Given the description of an element on the screen output the (x, y) to click on. 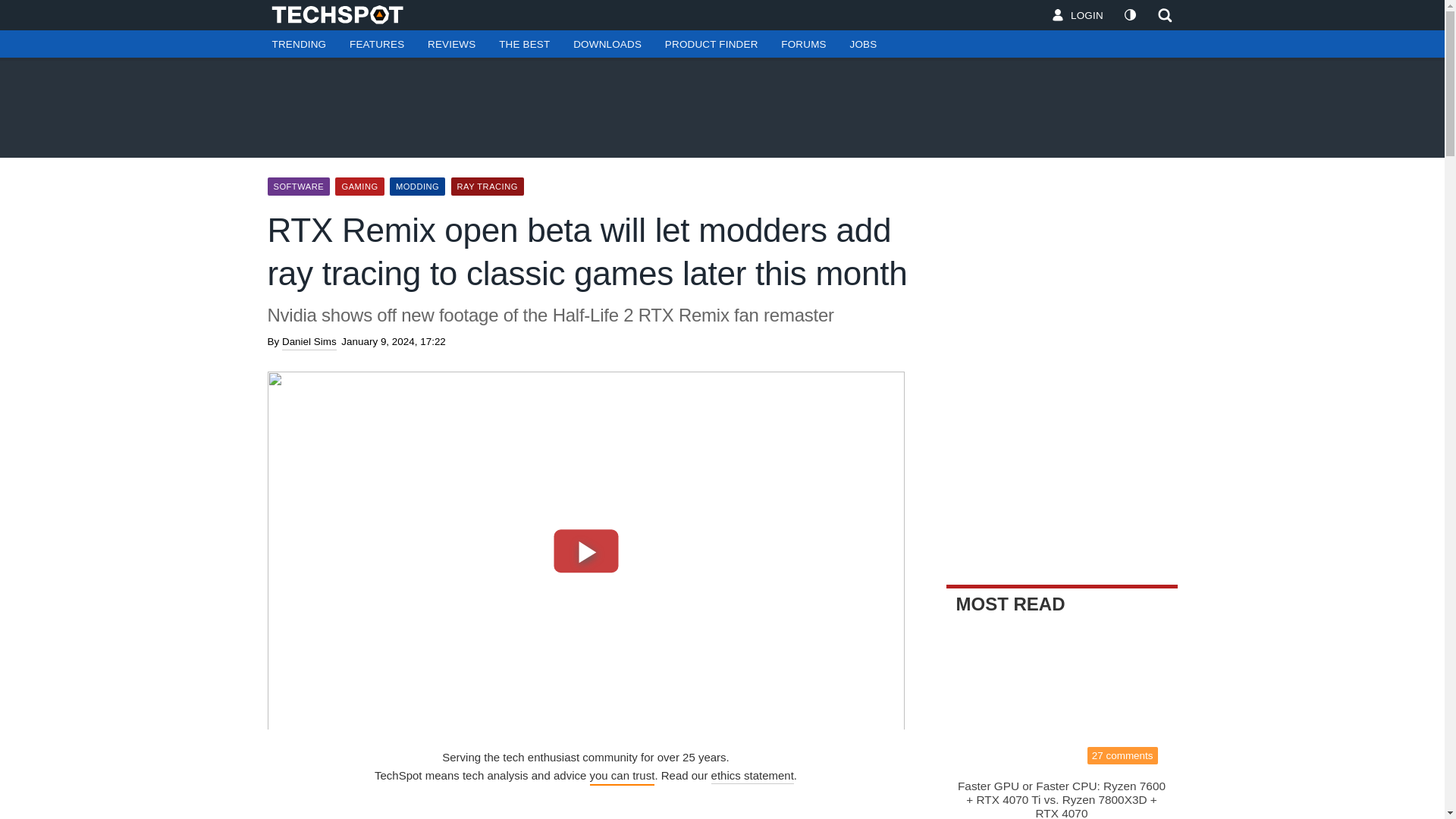
DOWNLOADS (606, 44)
TRENDING (298, 44)
SearchA search icon (1160, 15)
REVIEWS (450, 44)
LOGIN (1077, 15)
THE BEST (524, 44)
FEATURES (376, 44)
FORUMS (803, 44)
PRODUCT FINDER (711, 44)
TechSpot logoThe word TechSpot (344, 14)
2024-01-09 17:22:00 (392, 341)
SearchA search icon (1164, 15)
TechSpot logoThe word TechSpot (344, 14)
